Given the description of an element on the screen output the (x, y) to click on. 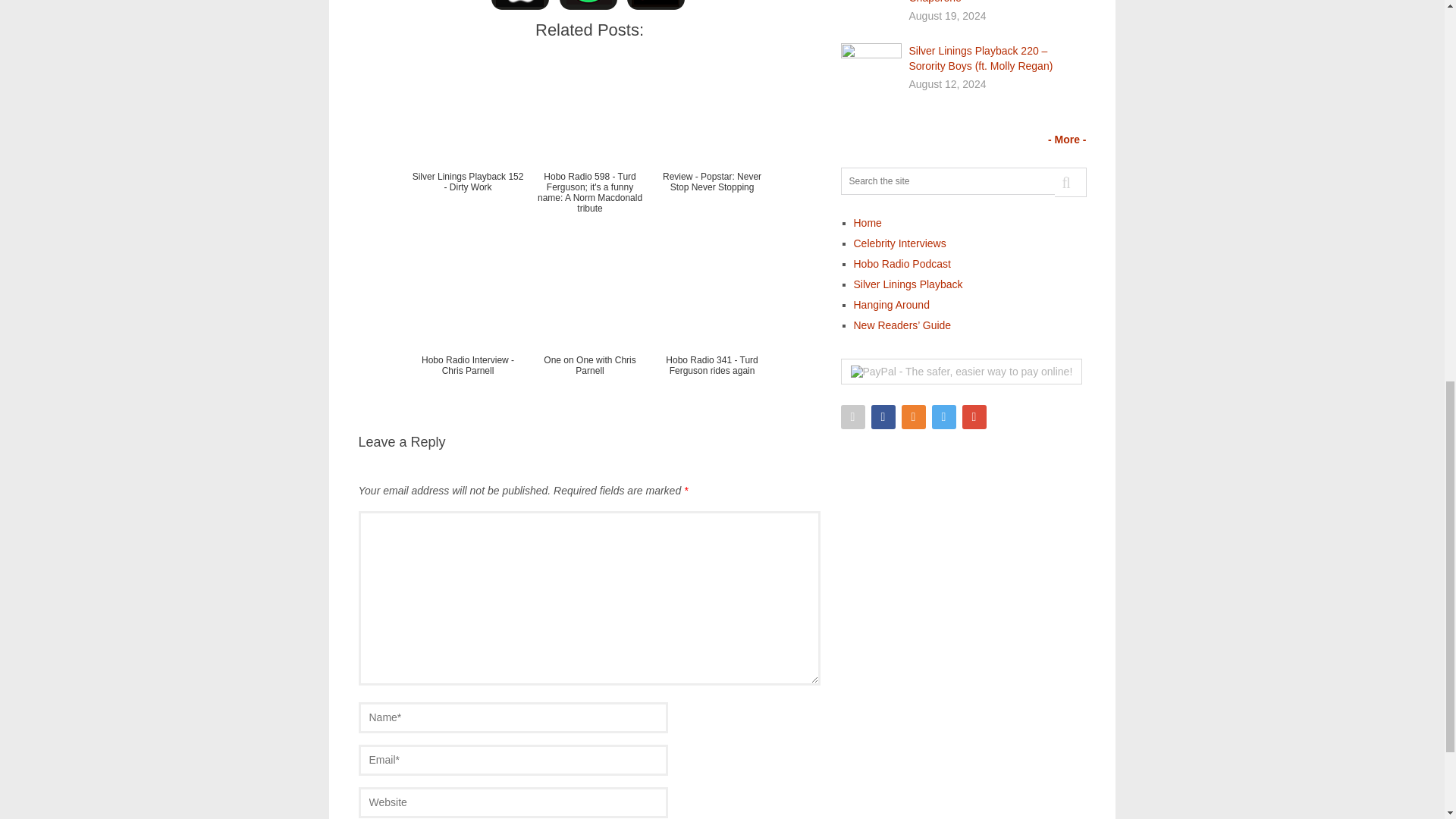
Silver Linings Playback (907, 284)
Hobo Radio Podcast (901, 263)
Home (867, 223)
Hanging Around (891, 304)
Email (852, 416)
Celebrity Interviews (899, 243)
Facebook (882, 416)
- More - (1067, 139)
